Given the description of an element on the screen output the (x, y) to click on. 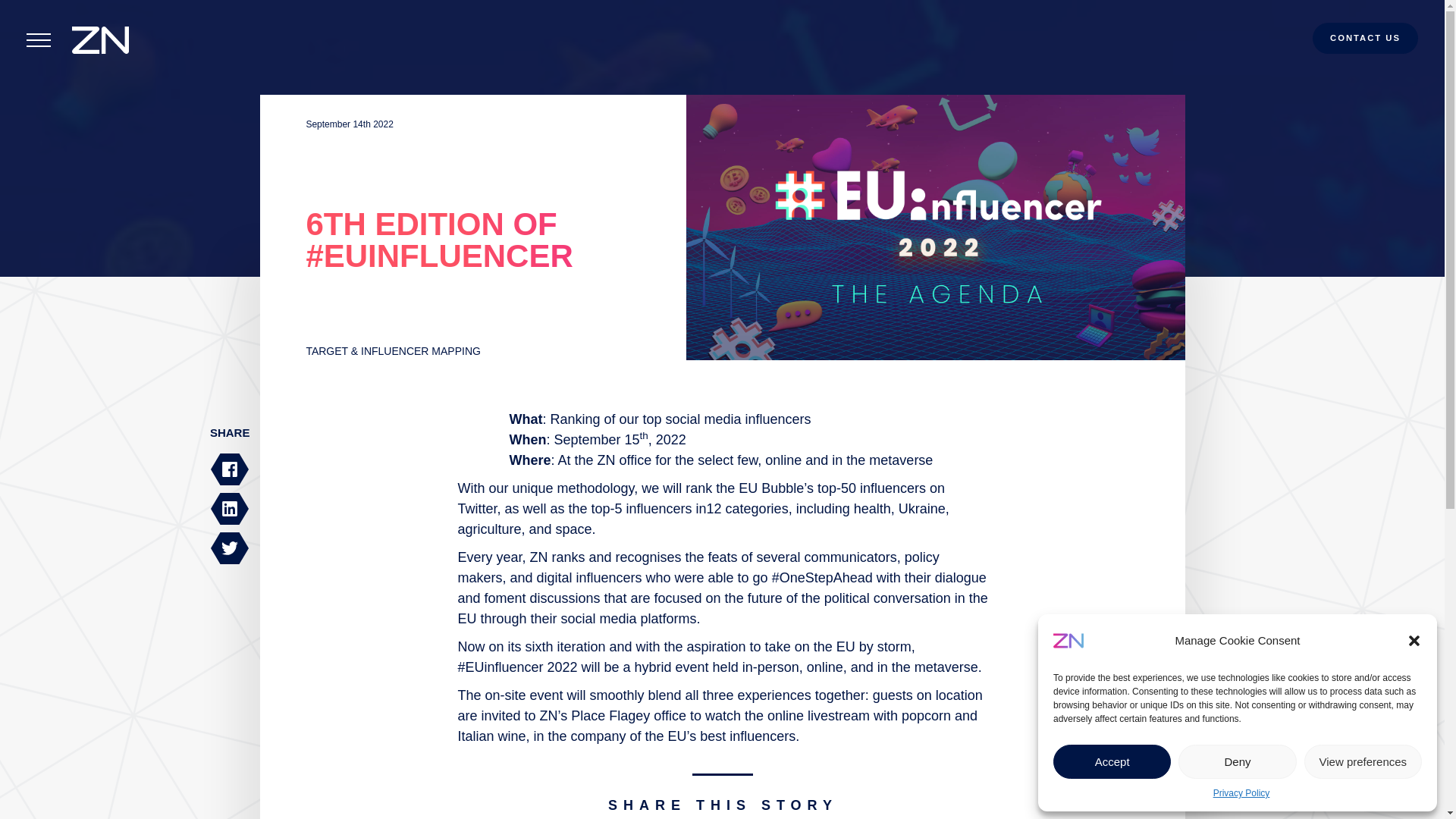
Submit (69, 7)
Accept (1111, 761)
CONTACT US (1365, 43)
View preferences (1363, 761)
Privacy Policy (1240, 793)
Deny (1236, 761)
